Given the description of an element on the screen output the (x, y) to click on. 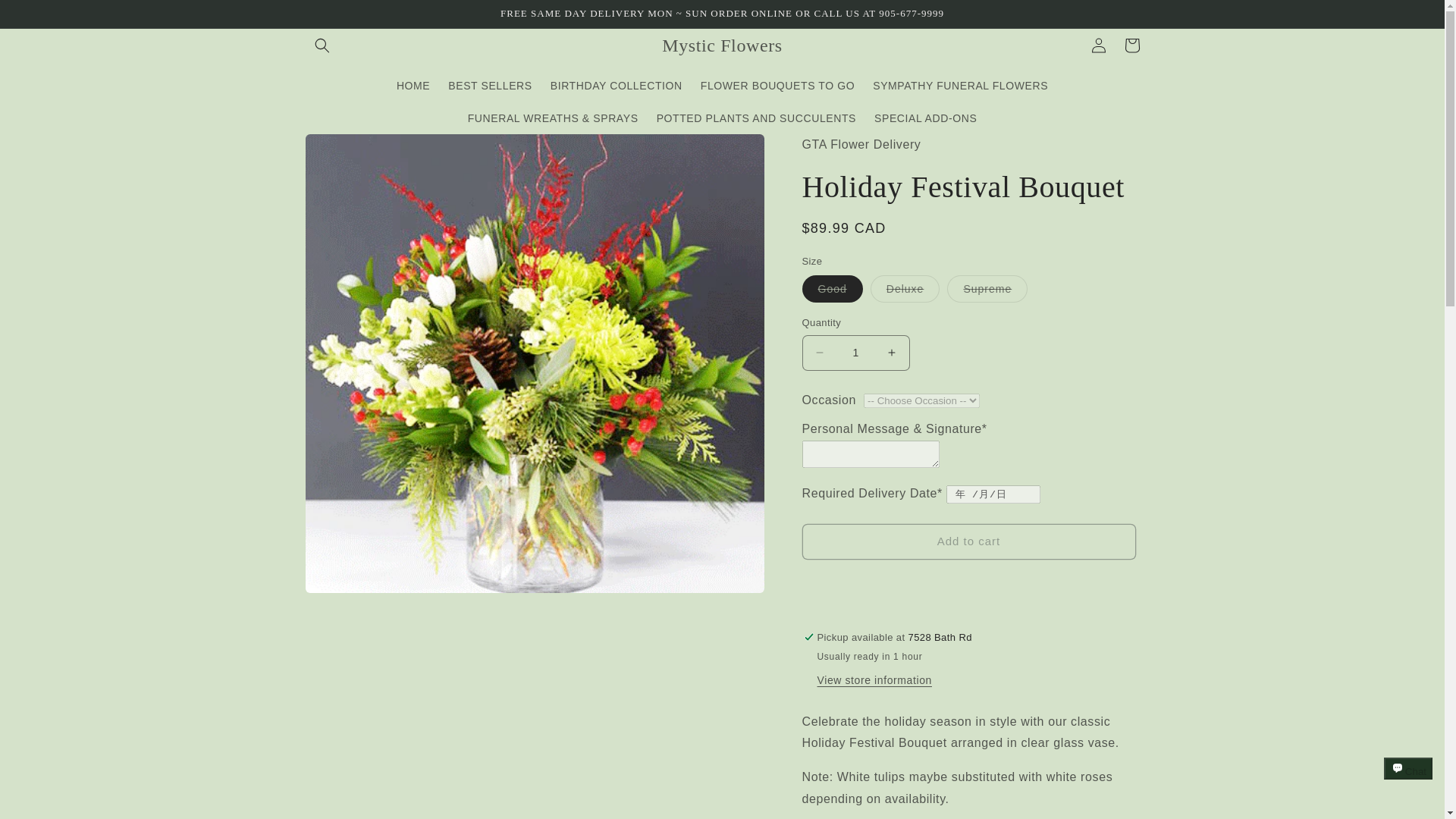
SPECIAL ADD-ONS (924, 118)
Log in (1098, 45)
1 (856, 352)
SYMPATHY FUNERAL FLOWERS (960, 85)
Skip to product information (350, 150)
BIRTHDAY COLLECTION (616, 85)
Decrease quantity for Holiday Festival Bouquet (818, 352)
FLOWER BOUQUETS TO GO (777, 85)
Shopify online store chat (1408, 781)
BEST SELLERS (489, 85)
Mystic Flowers (721, 44)
POTTED PLANTS AND SUCCULENTS (755, 118)
Skip to content (45, 17)
